Given the description of an element on the screen output the (x, y) to click on. 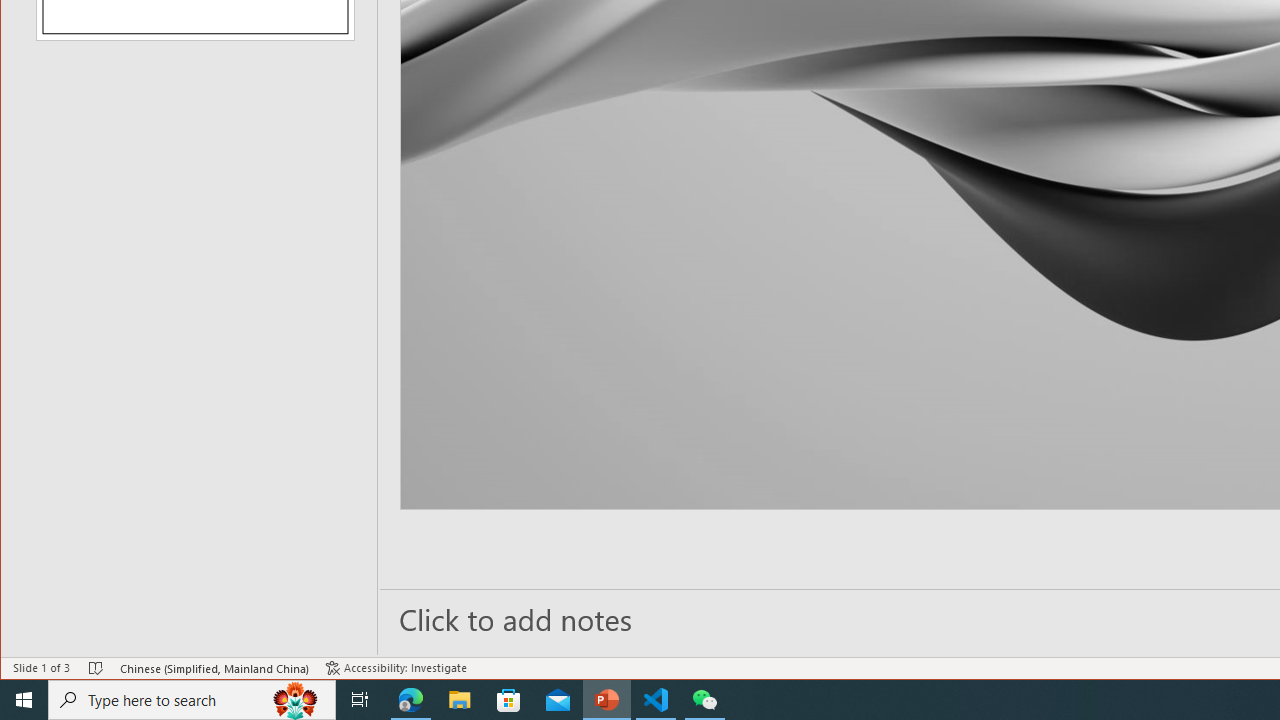
WeChat - 1 running window (704, 699)
Microsoft Edge - 1 running window (411, 699)
